Given the description of an element on the screen output the (x, y) to click on. 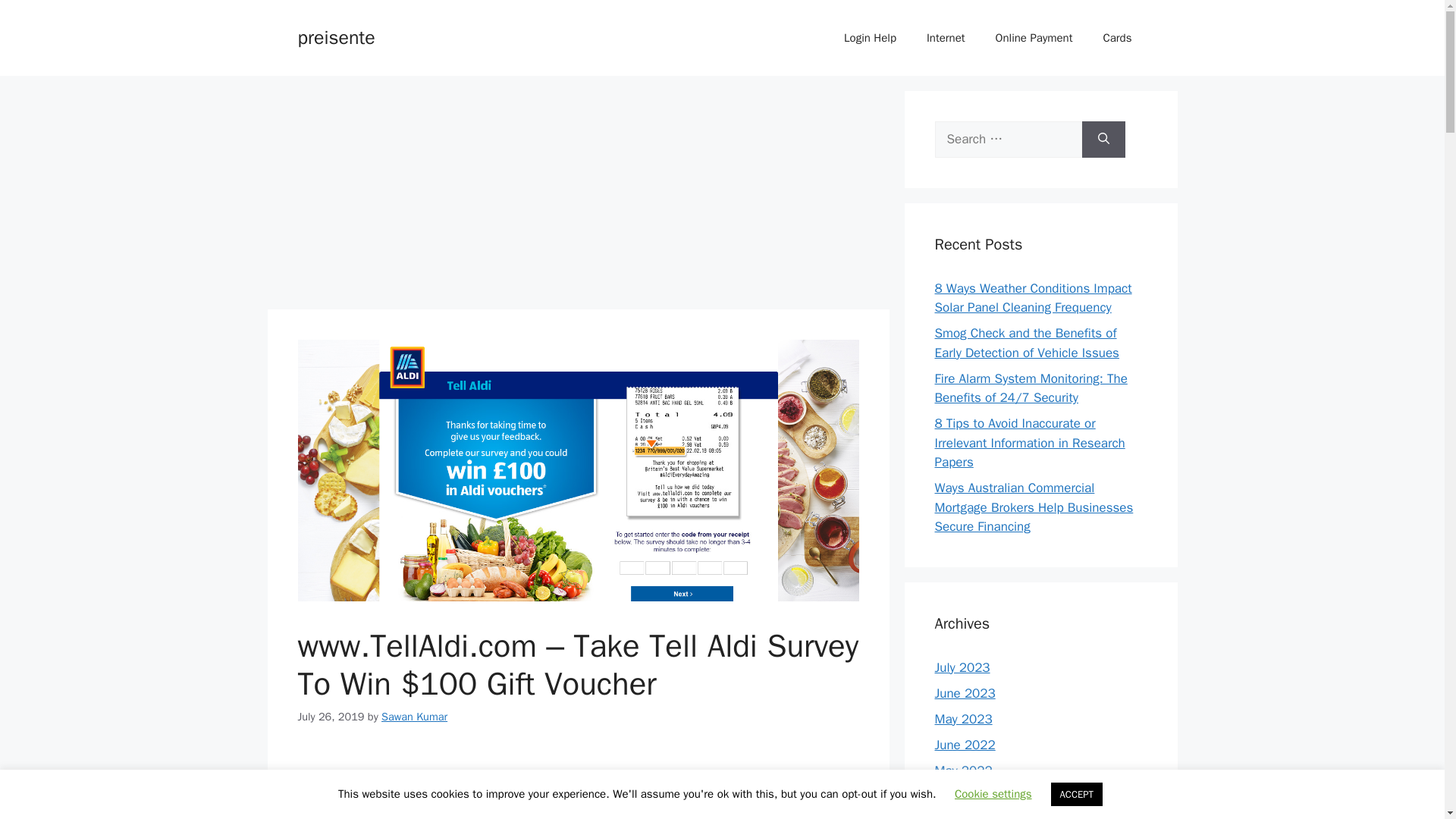
Sawan Kumar (413, 716)
July 2023 (962, 667)
View all posts by Sawan Kumar (413, 716)
Login Help (869, 37)
Search for: (1007, 139)
Cards (1117, 37)
